Given the description of an element on the screen output the (x, y) to click on. 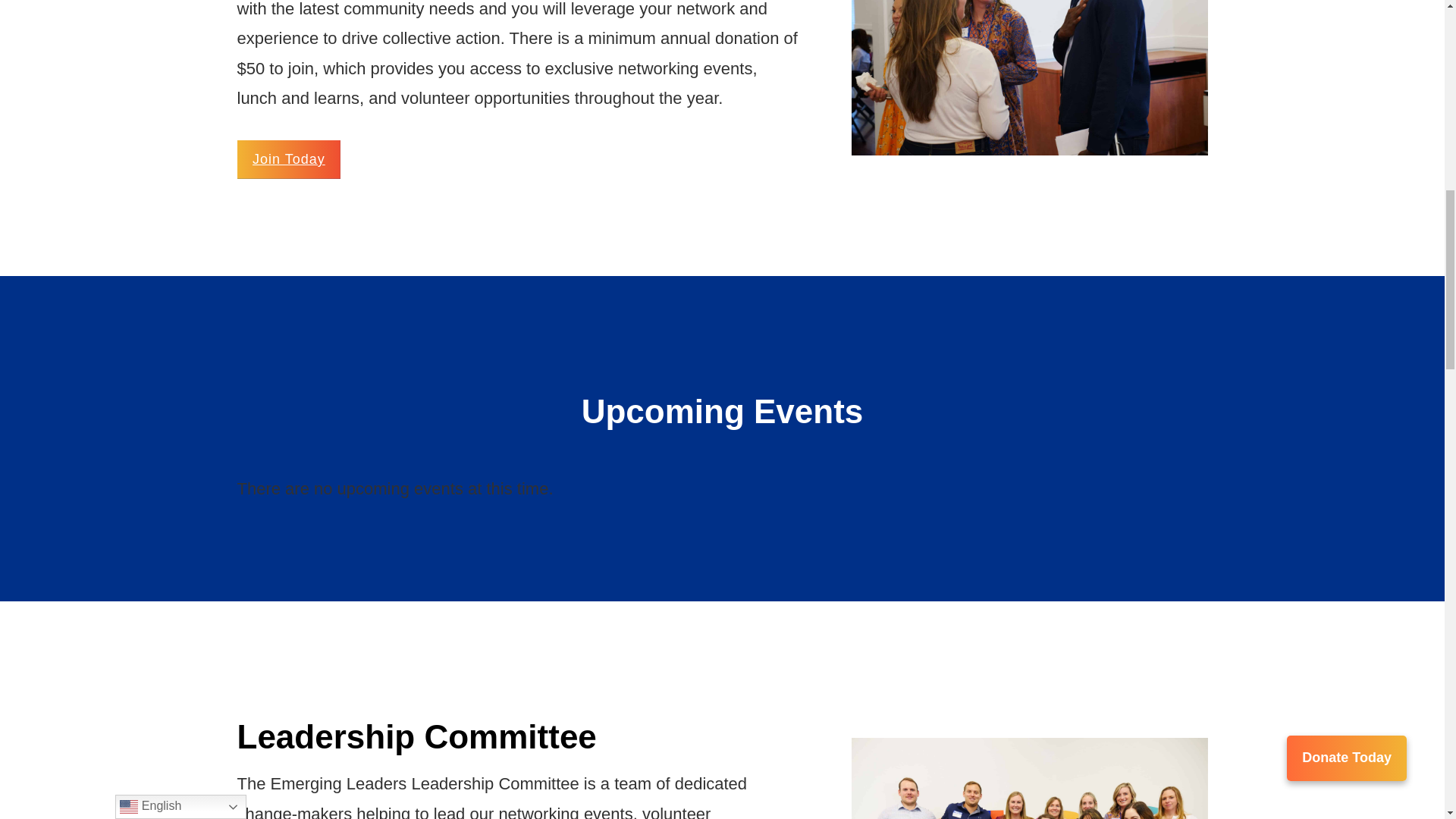
Stacey Website Photo EL (1029, 77)
EL Leadership '23 (1029, 778)
